Given the description of an element on the screen output the (x, y) to click on. 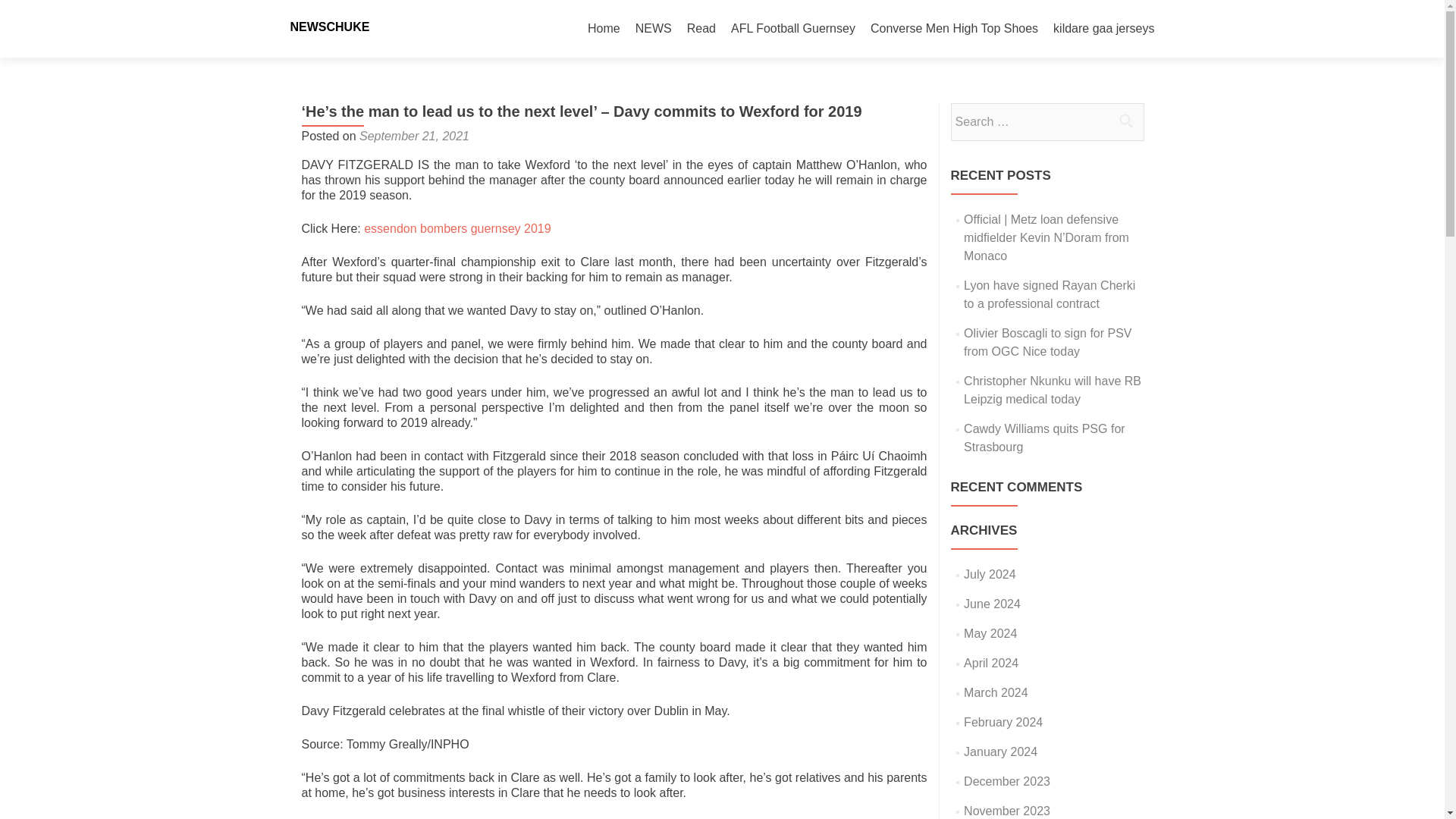
Search (1125, 120)
Search (1125, 120)
Home (604, 28)
NEWS (652, 28)
December 2023 (1006, 780)
February 2024 (1002, 721)
June 2024 (991, 603)
Cawdy Williams quits PSG for Strasbourg (1044, 437)
April 2024 (990, 662)
Christopher Nkunku will have RB Leipzig medical today (1052, 389)
November 2023 (1006, 810)
May 2024 (989, 633)
AFL Football Guernsey (793, 28)
Olivier Boscagli to sign for PSV from OGC Nice today (1047, 341)
September 21, 2021 (413, 135)
